Given the description of an element on the screen output the (x, y) to click on. 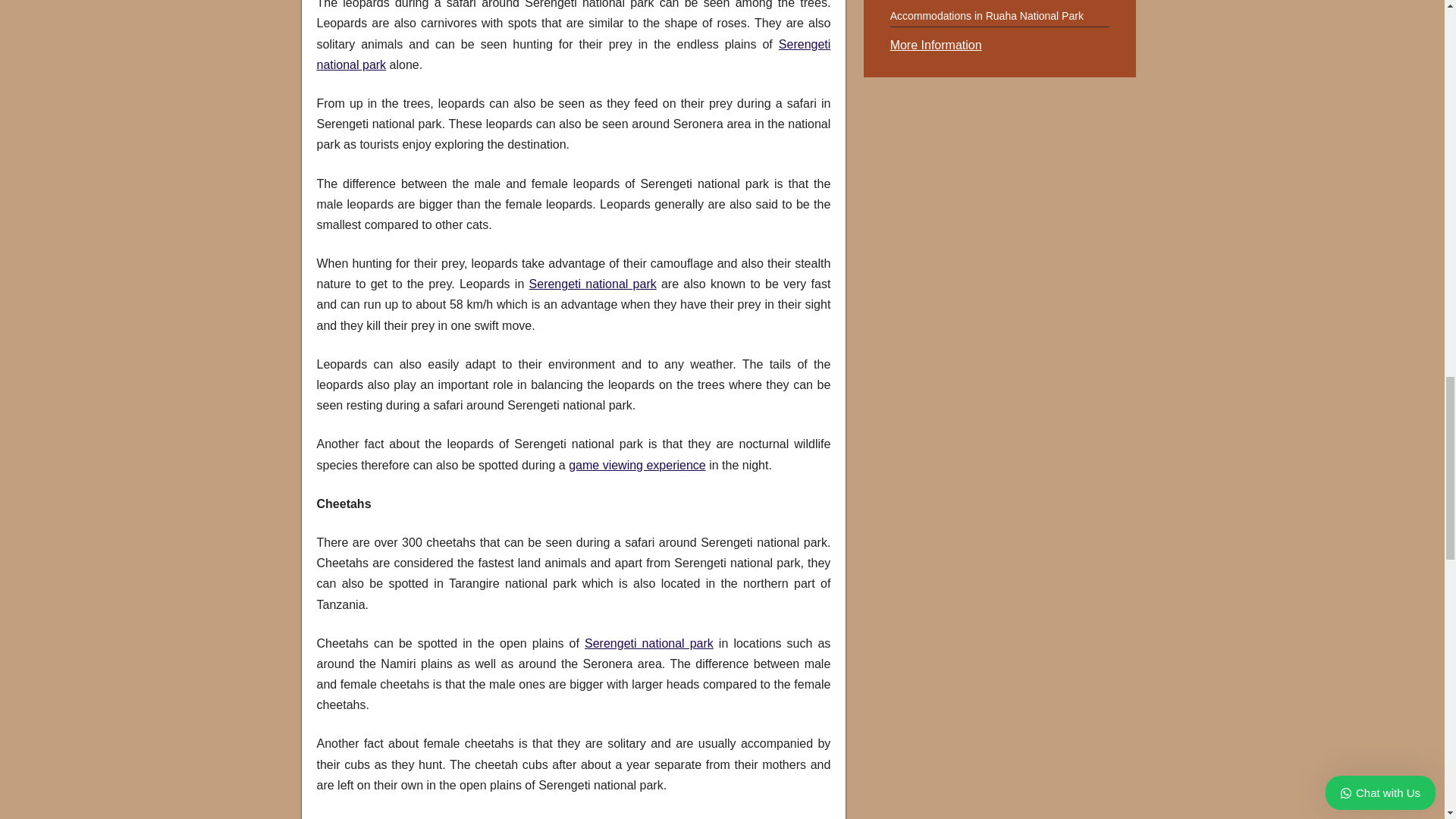
game viewing experience (637, 464)
Serengeti national park (574, 54)
Serengeti national park (592, 283)
Serengeti national park (649, 643)
